Given the description of an element on the screen output the (x, y) to click on. 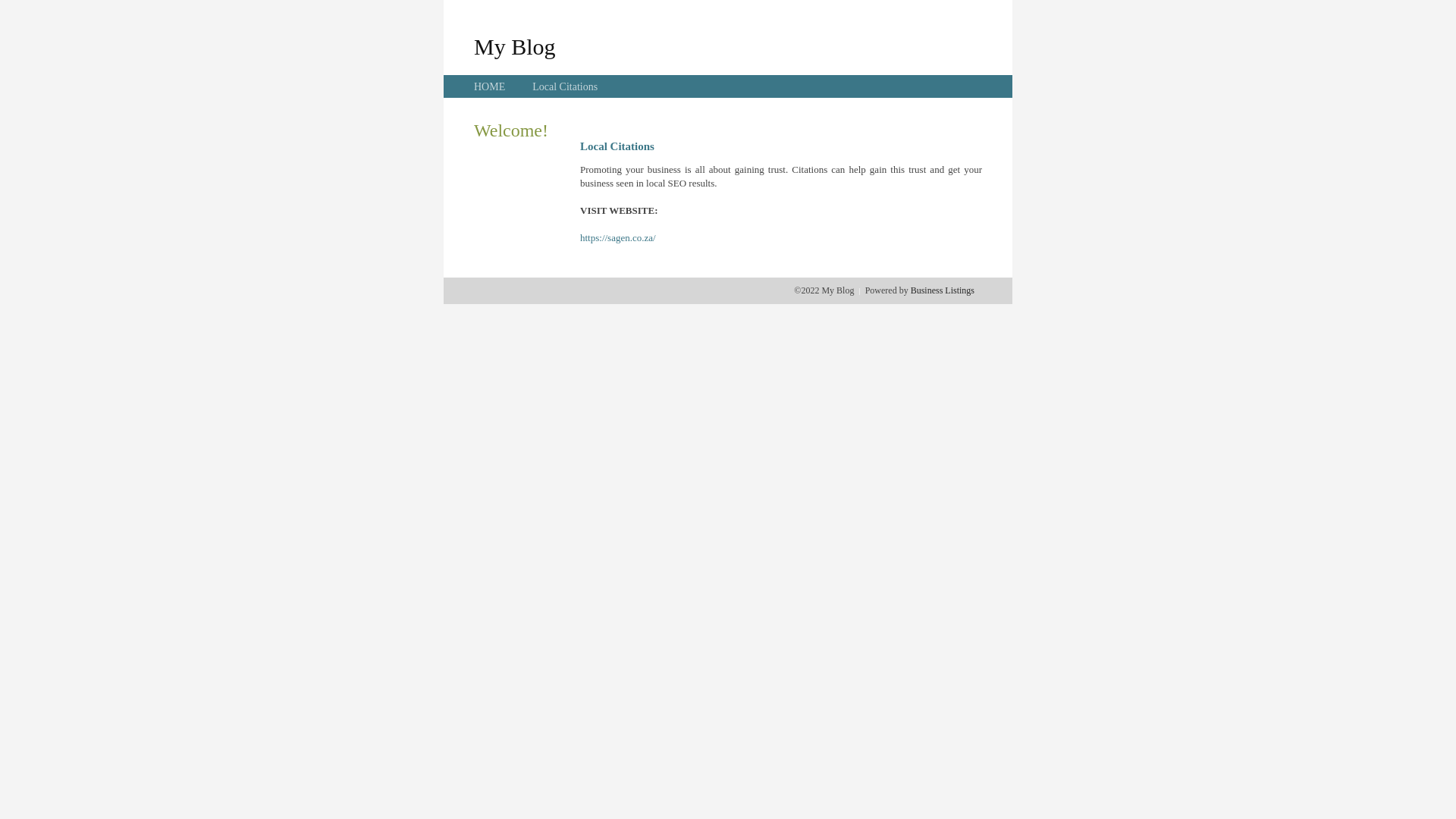
https://sagen.co.za/ Element type: text (617, 237)
Business Listings Element type: text (942, 290)
HOME Element type: text (489, 86)
My Blog Element type: text (514, 46)
Local Citations Element type: text (564, 86)
